Given the description of an element on the screen output the (x, y) to click on. 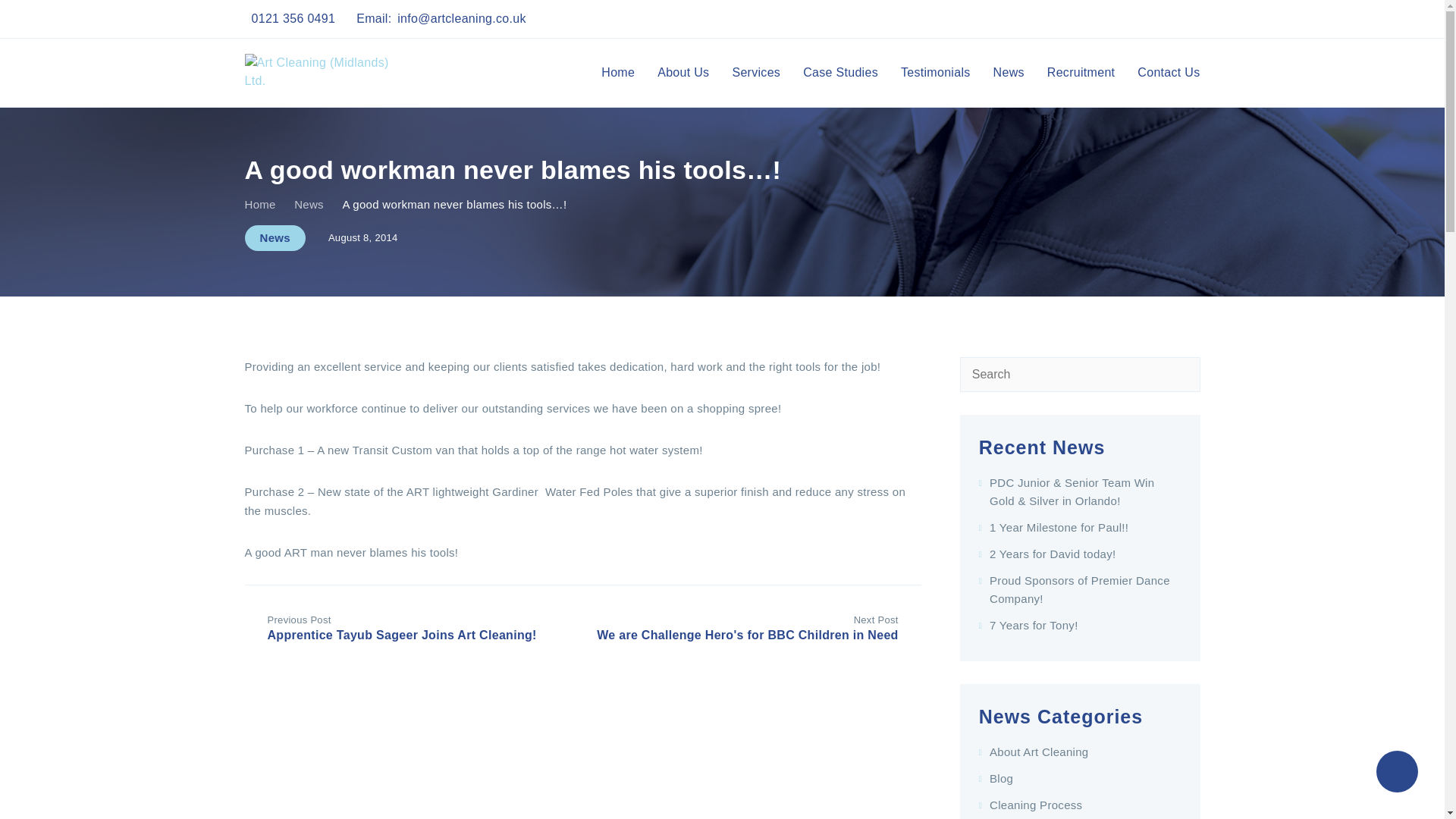
Case Studies (840, 72)
Services (756, 72)
About Us (683, 72)
0121 356 0491 (293, 18)
News (274, 237)
